Given the description of an element on the screen output the (x, y) to click on. 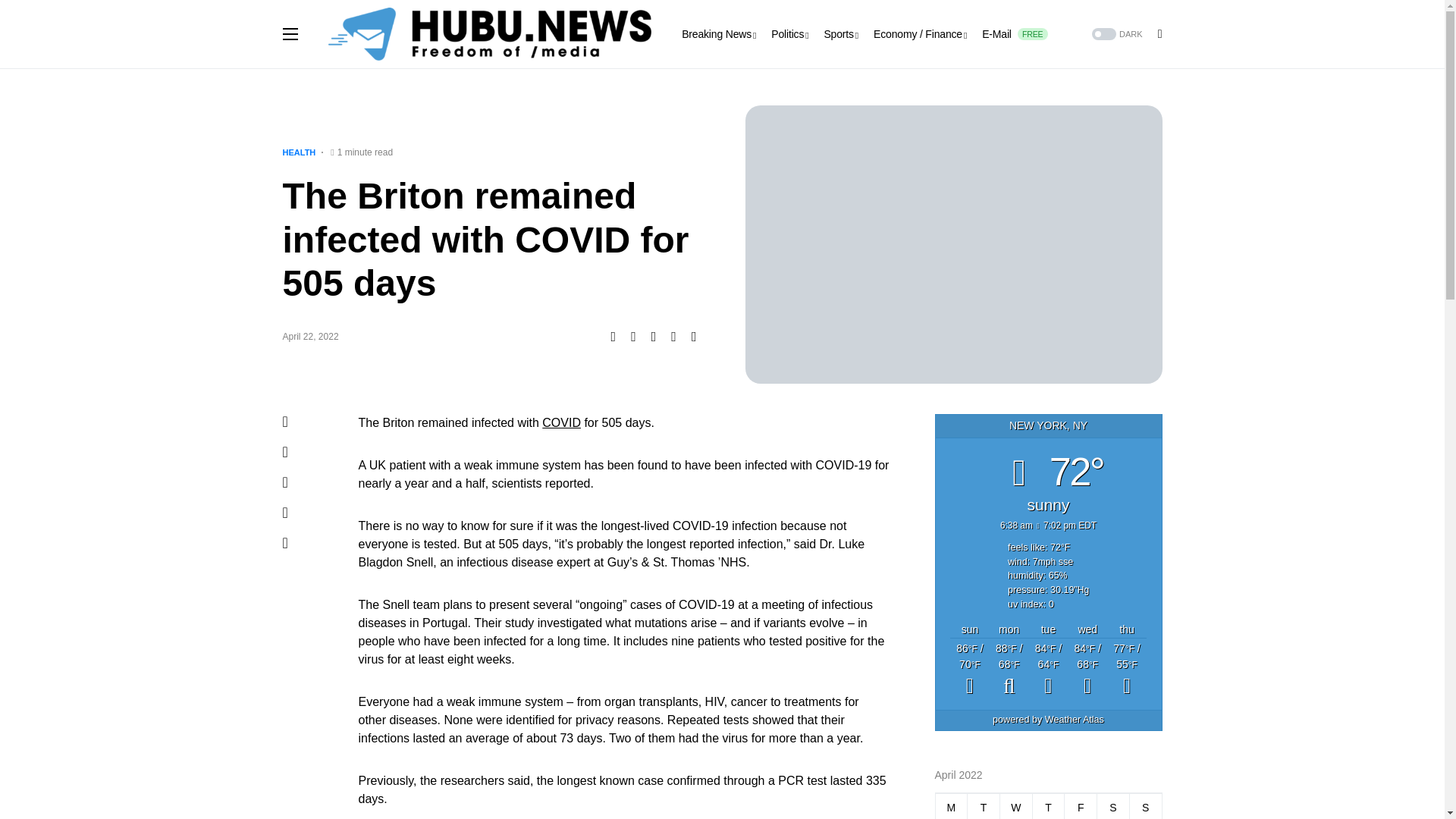
Sunday (1014, 33)
Saturday (1145, 805)
Friday (1113, 805)
Breaking News (1080, 805)
Thursday (718, 33)
Wednesday (1048, 805)
Tuesday (1015, 805)
Monday (984, 805)
